Given the description of an element on the screen output the (x, y) to click on. 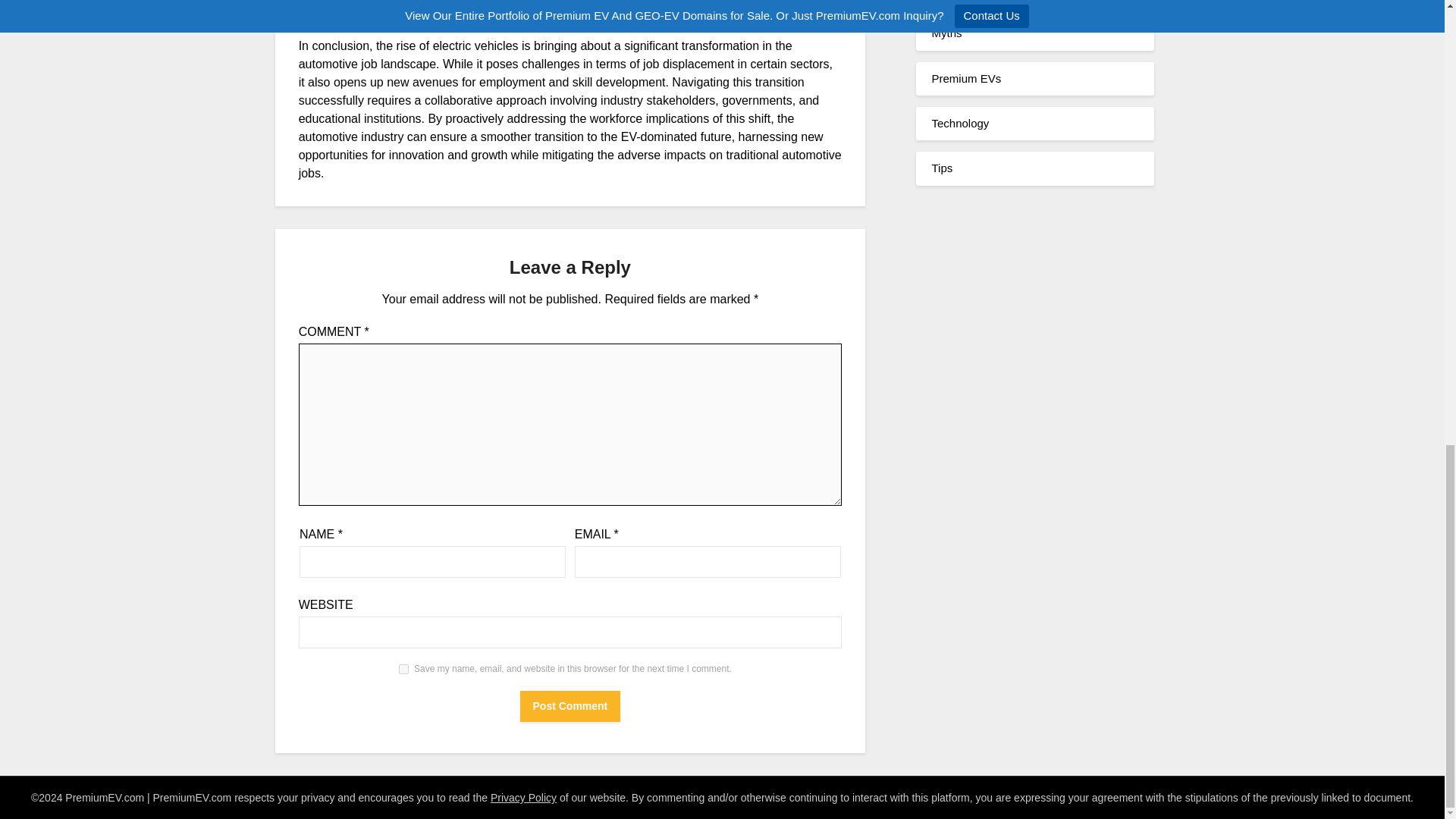
yes (403, 669)
Post Comment (570, 706)
Post Comment (570, 706)
Technology (959, 123)
Myths (945, 32)
Privacy Policy (523, 797)
Premium EVs (966, 78)
Tips (941, 167)
